Given the description of an element on the screen output the (x, y) to click on. 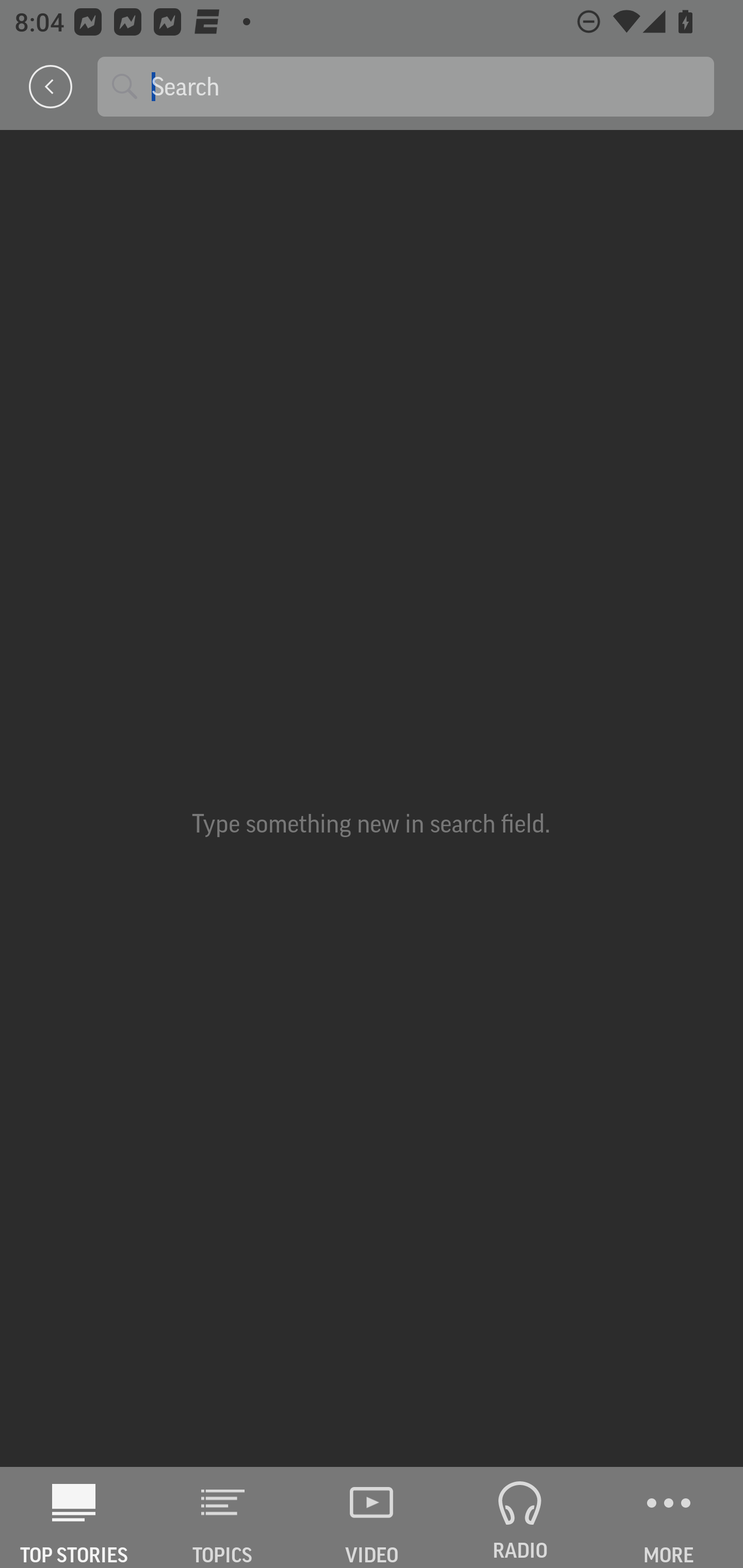
Search (425, 86)
AP News TOP STORIES (74, 1517)
TOPICS (222, 1517)
VIDEO (371, 1517)
RADIO (519, 1517)
MORE (668, 1517)
